Given the description of an element on the screen output the (x, y) to click on. 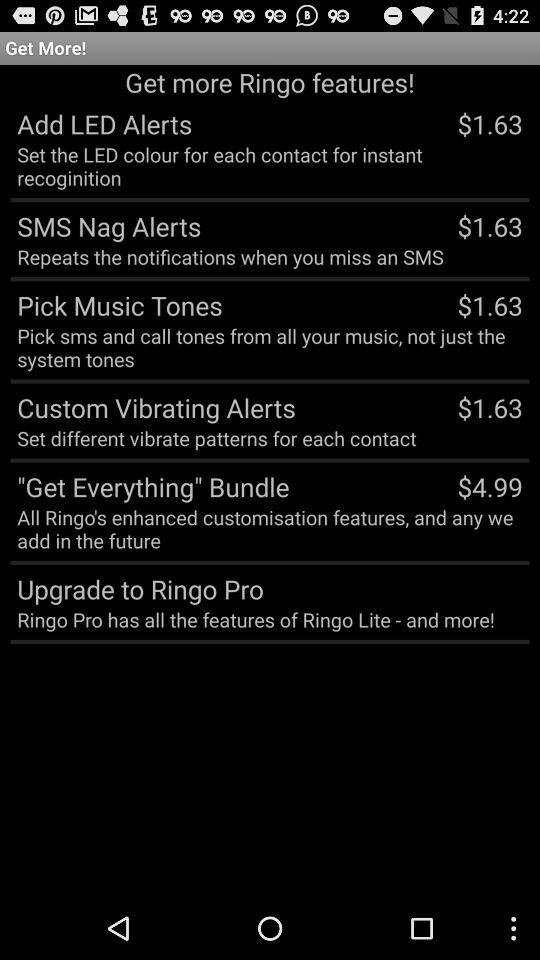
flip until add led alerts (101, 123)
